Given the description of an element on the screen output the (x, y) to click on. 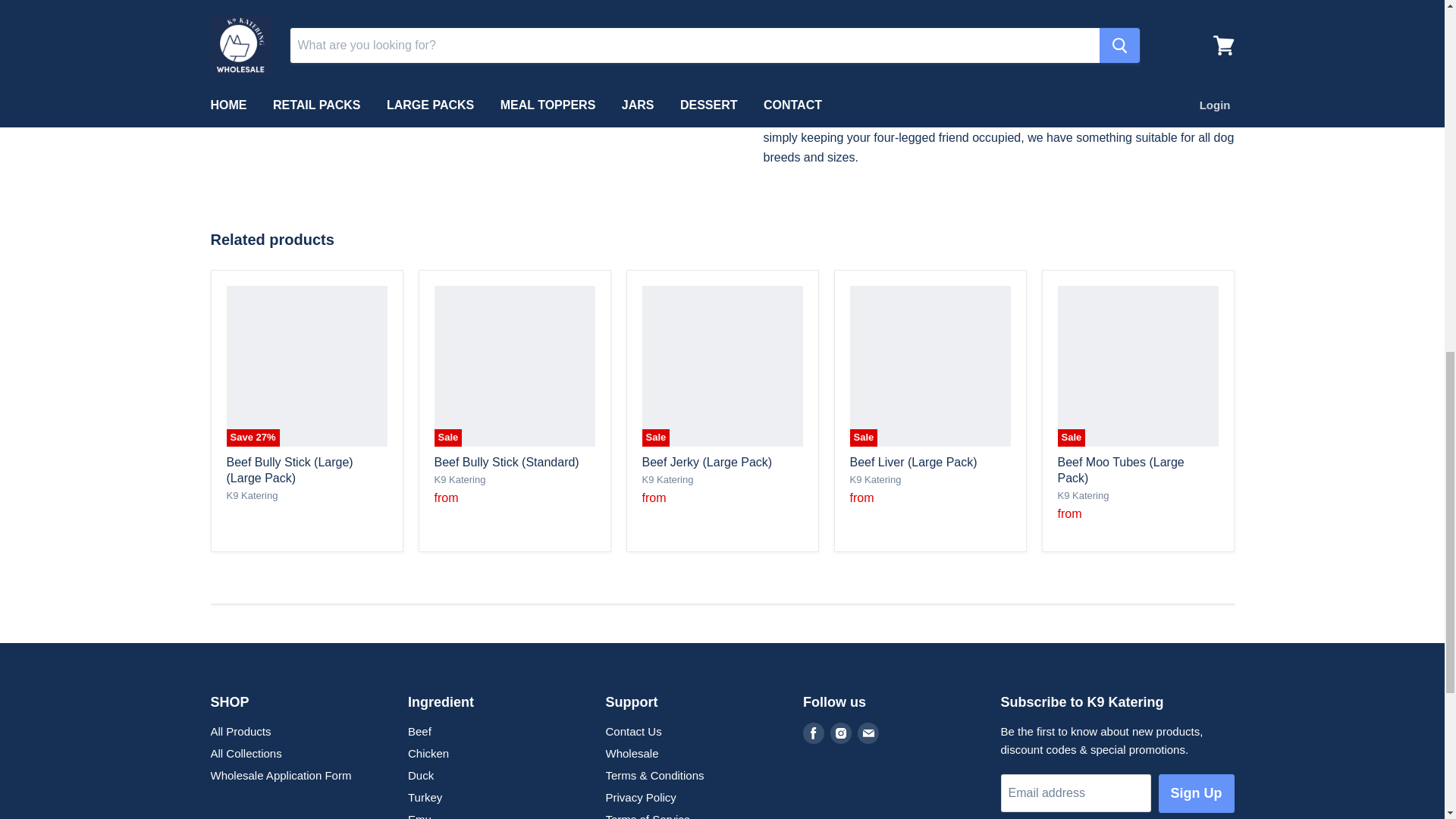
Instagram (840, 732)
E-mail (868, 732)
Sale (722, 365)
Facebook (813, 732)
Sale (513, 365)
